Given the description of an element on the screen output the (x, y) to click on. 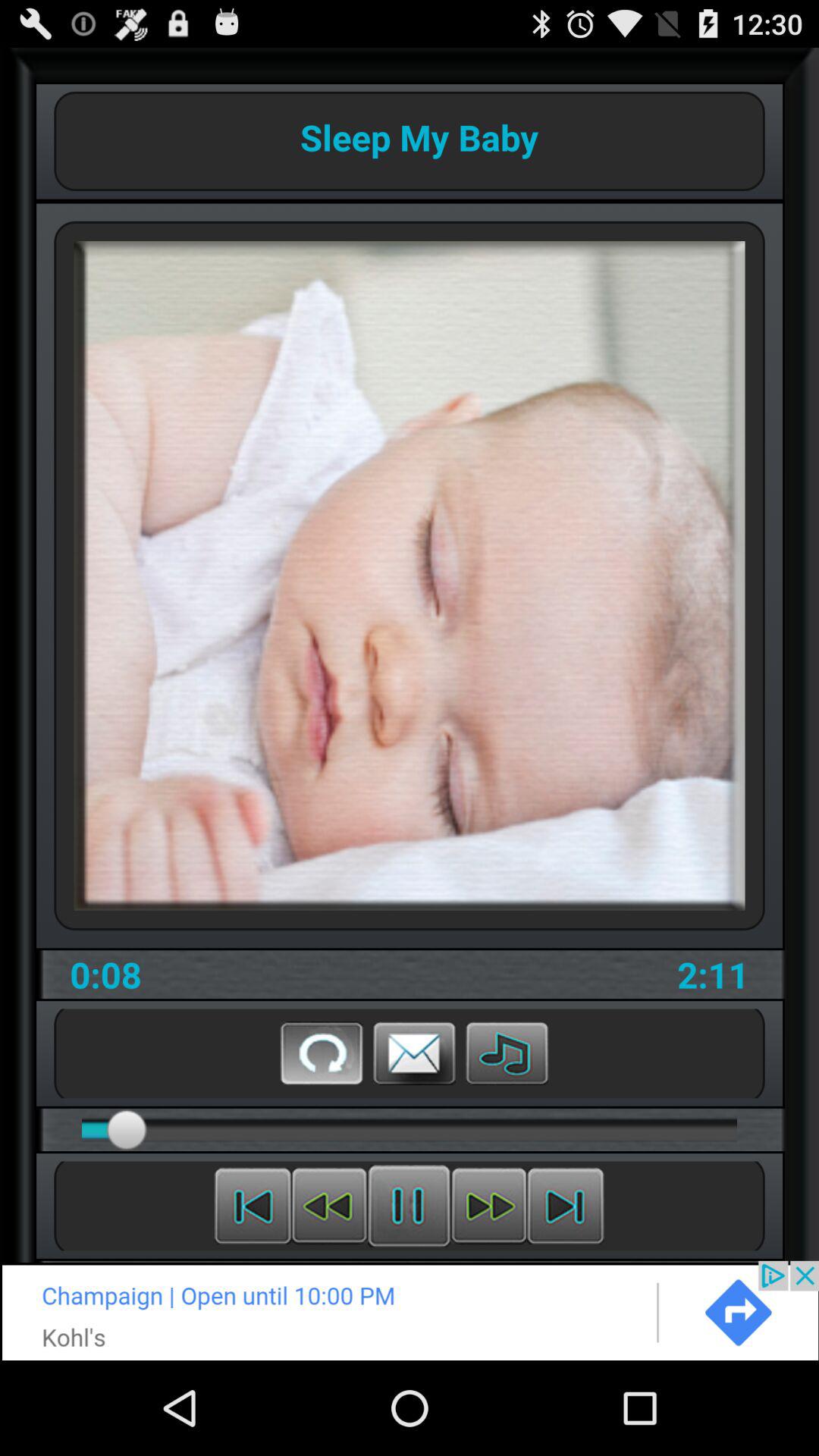
pause music (408, 1205)
